Given the description of an element on the screen output the (x, y) to click on. 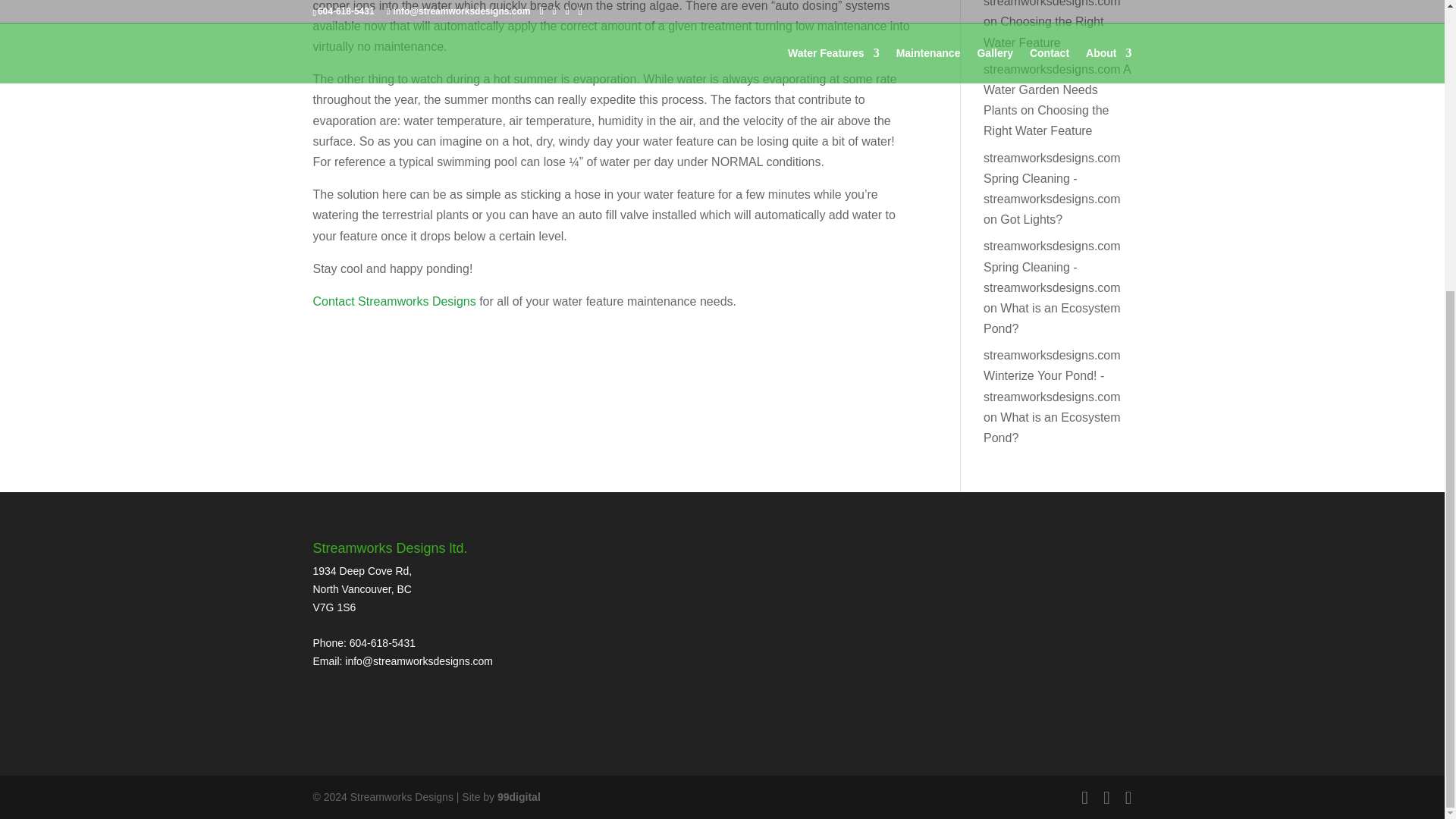
Choosing the Right Water Feature (1043, 31)
Contact Streamworks Designs (394, 300)
Water Feature Maintenance (394, 300)
streamworksdesigns.com A Water Garden Needs Plants (1057, 90)
